Given the description of an element on the screen output the (x, y) to click on. 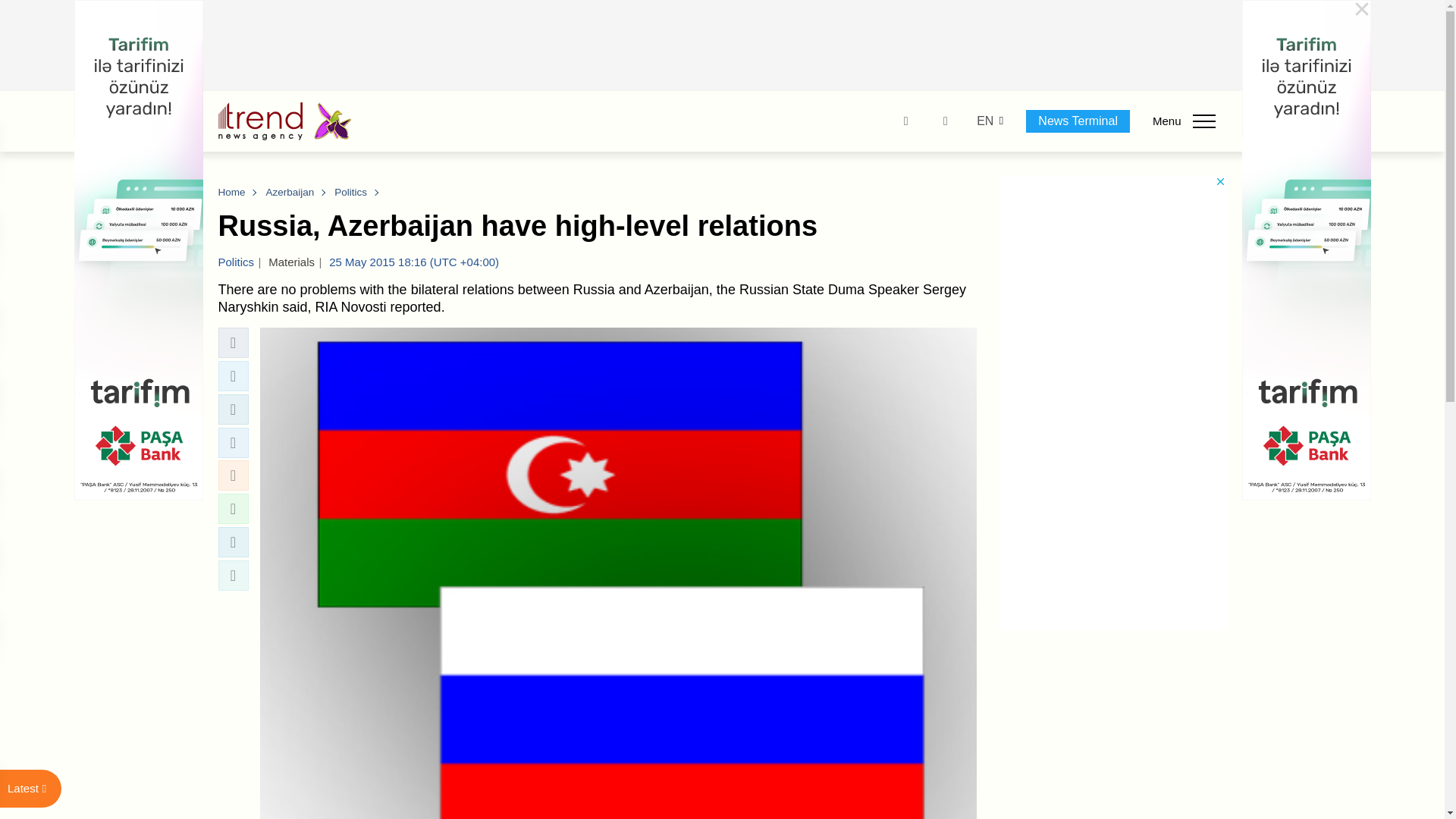
EN (984, 121)
News Terminal (1077, 120)
3rd party ad content (722, 45)
English (984, 121)
